Given the description of an element on the screen output the (x, y) to click on. 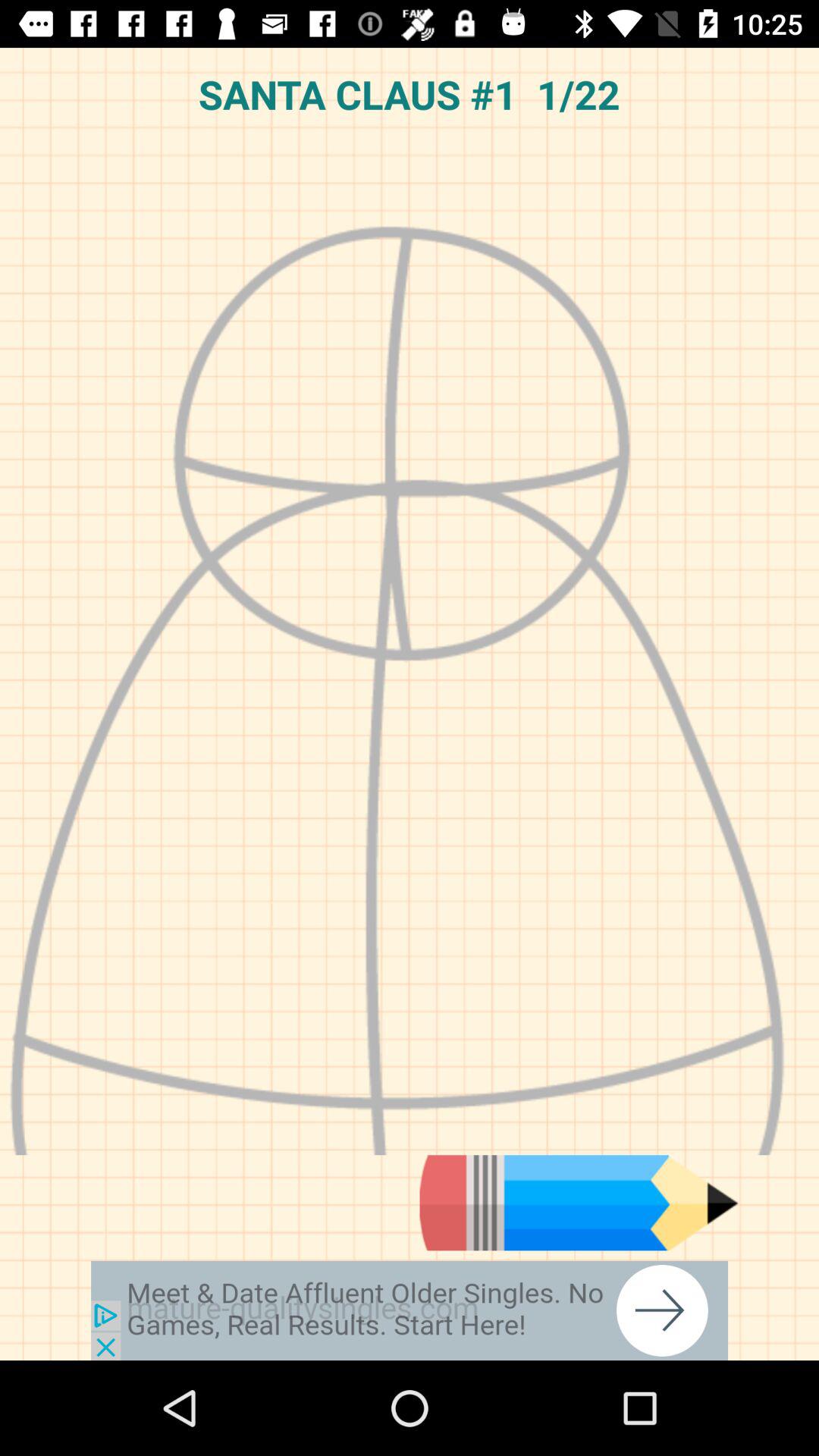
advertisement (409, 1310)
